Given the description of an element on the screen output the (x, y) to click on. 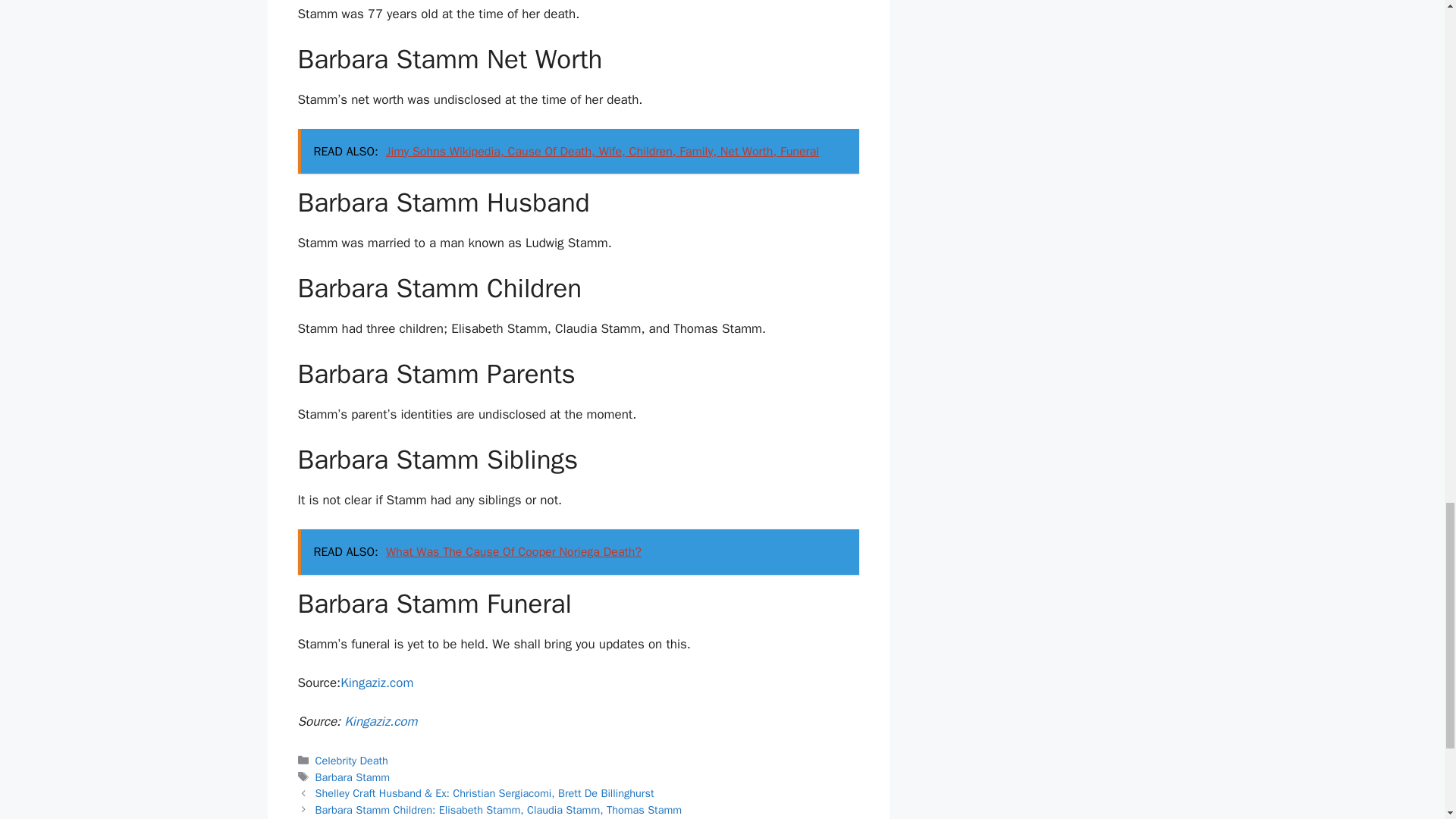
Celebrity Death (351, 760)
Kingaziz.com (376, 682)
READ ALSO:  What Was The Cause Of Cooper Noriega Death? (578, 551)
Kingaziz.com (379, 720)
Barbara Stamm (352, 776)
